Given the description of an element on the screen output the (x, y) to click on. 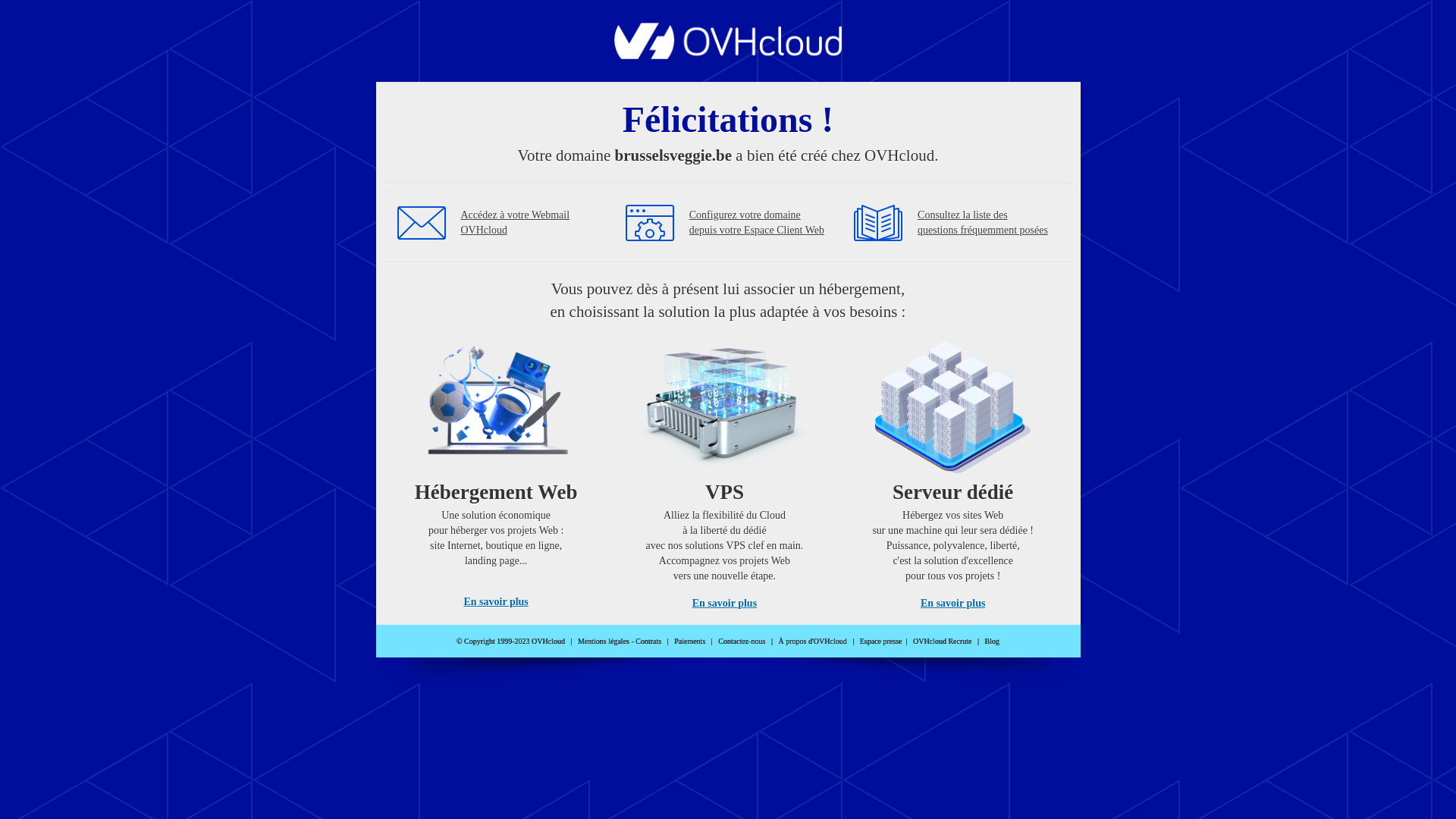
Paiements Element type: text (689, 641)
Espace presse Element type: text (880, 641)
Blog Element type: text (992, 641)
VPS Element type: hover (724, 469)
En savoir plus Element type: text (952, 602)
OVHcloud Element type: hover (727, 54)
Configurez votre domaine
depuis votre Espace Client Web Element type: text (756, 222)
Contactez-nous Element type: text (741, 641)
OVHcloud Recrute Element type: text (942, 641)
En savoir plus Element type: text (724, 602)
En savoir plus Element type: text (495, 601)
